Given the description of an element on the screen output the (x, y) to click on. 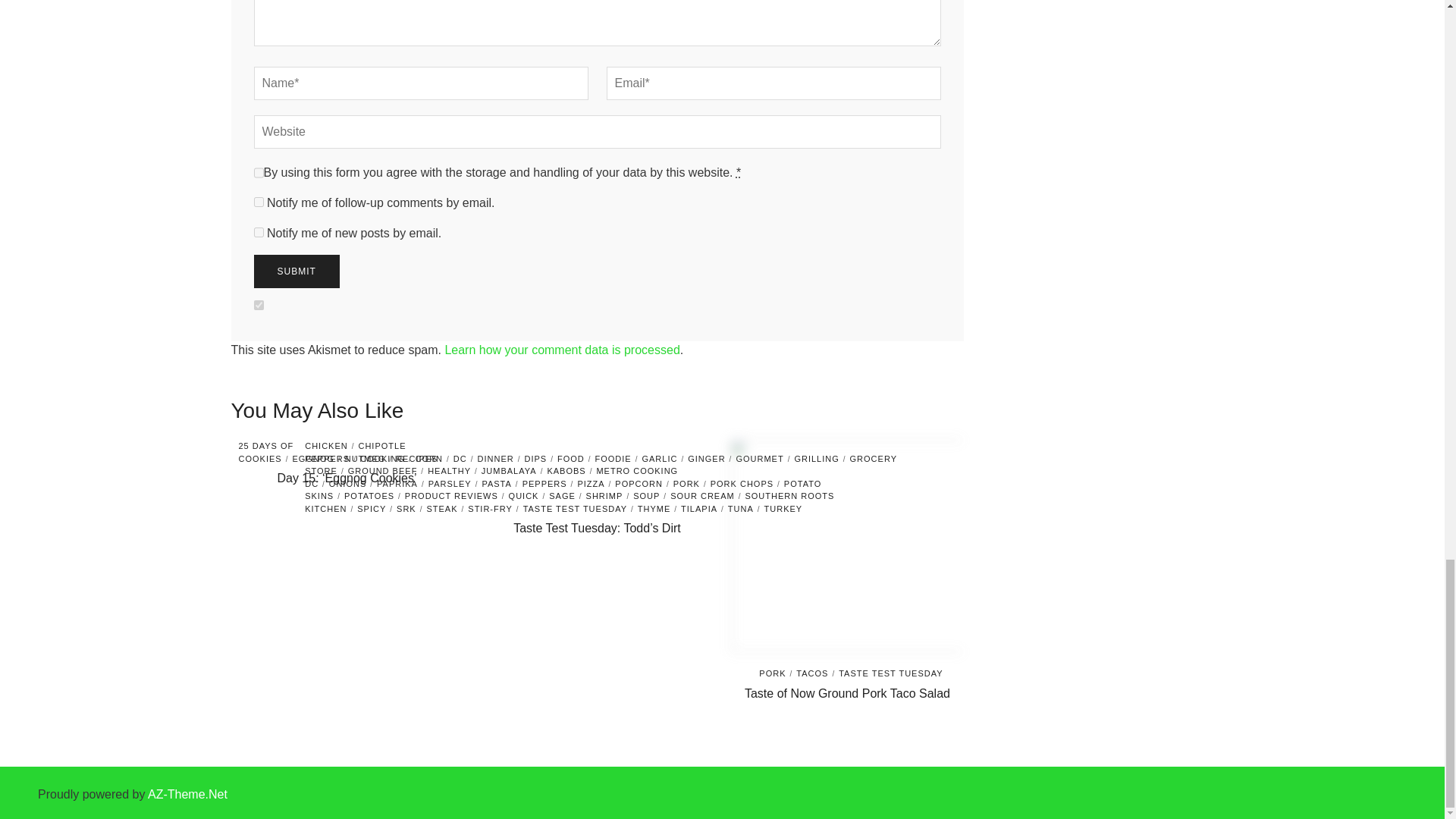
subscribe (258, 202)
Submit (296, 271)
on (258, 305)
subscribe (258, 232)
